Given the description of an element on the screen output the (x, y) to click on. 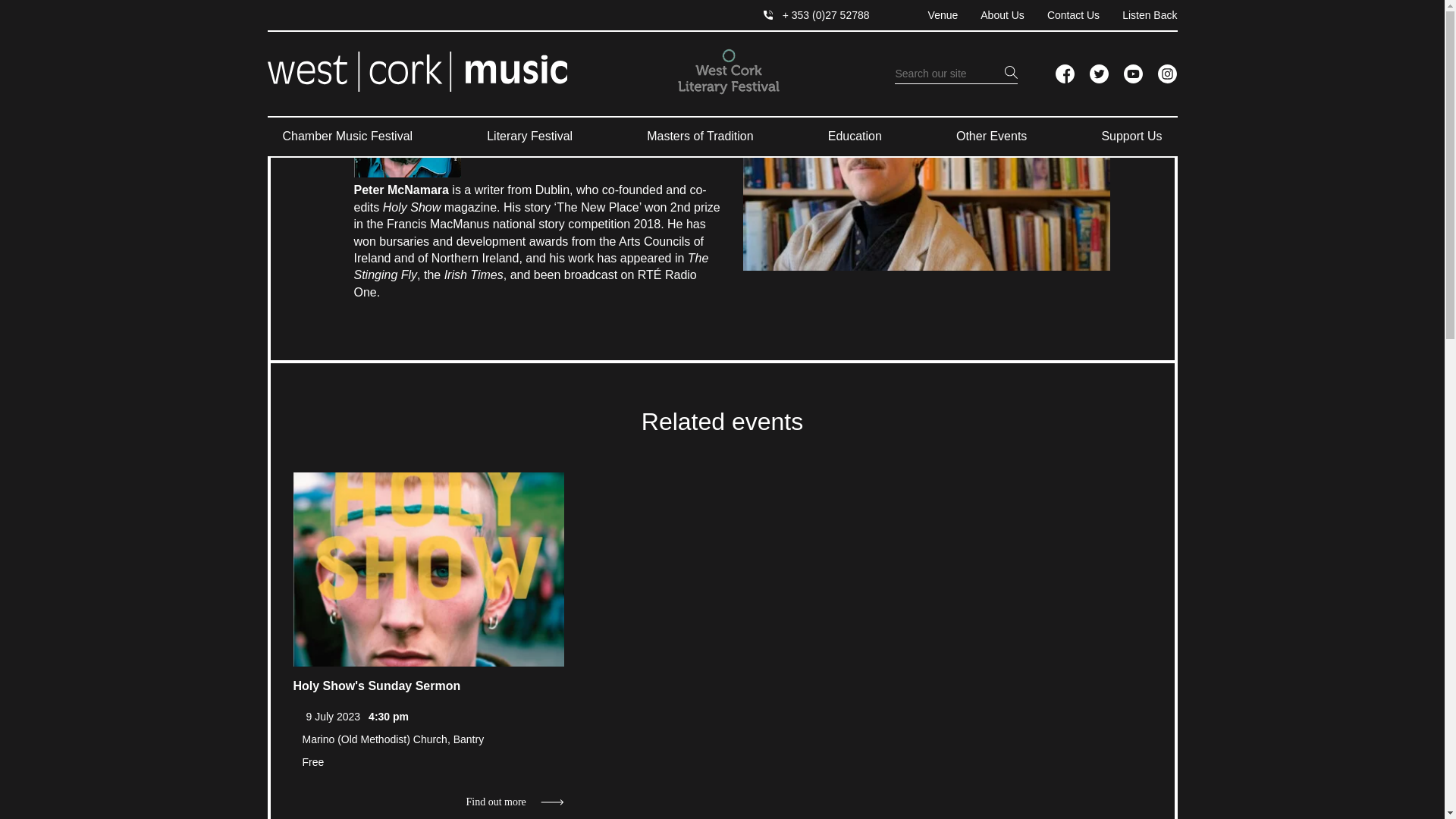
West Cork Music on twitter (1098, 73)
Festival logo (728, 71)
Listen Back (1137, 15)
Read More (427, 568)
Phone number (815, 15)
Holy Show 2023 (406, 101)
West Cork Music on youtube (1133, 73)
Peter McNamara (925, 148)
Chamber Music Festival (347, 136)
Venue (931, 15)
Contact Us (1062, 15)
West Cork Music on facebook (1064, 73)
Read More (514, 802)
West Cork Music (416, 71)
